Given the description of an element on the screen output the (x, y) to click on. 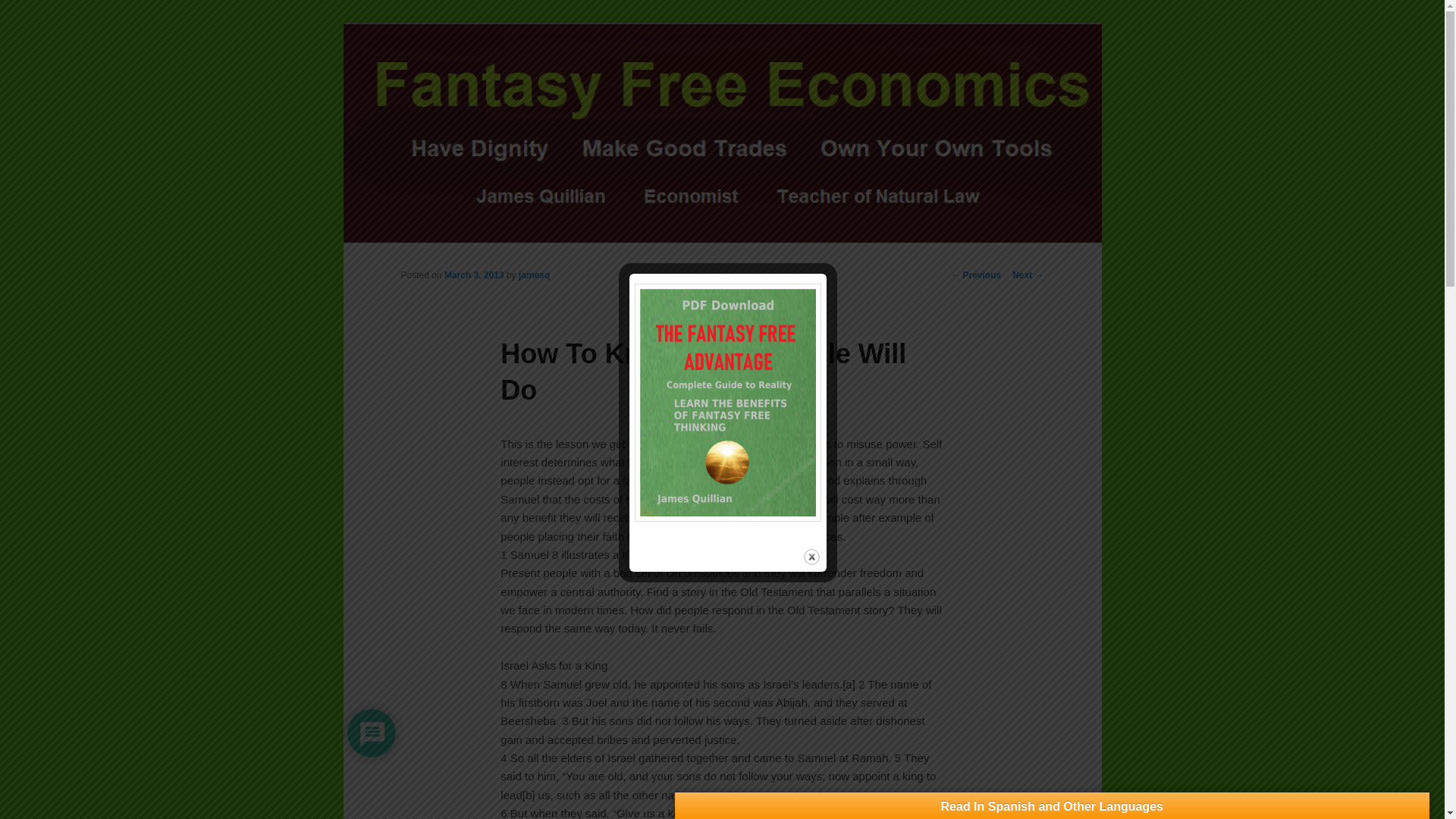
Fantasy Free Economics (534, 78)
View all posts by jamesq (534, 275)
jamesq (534, 275)
7:30 pm (473, 275)
March 3, 2013 (473, 275)
